Given the description of an element on the screen output the (x, y) to click on. 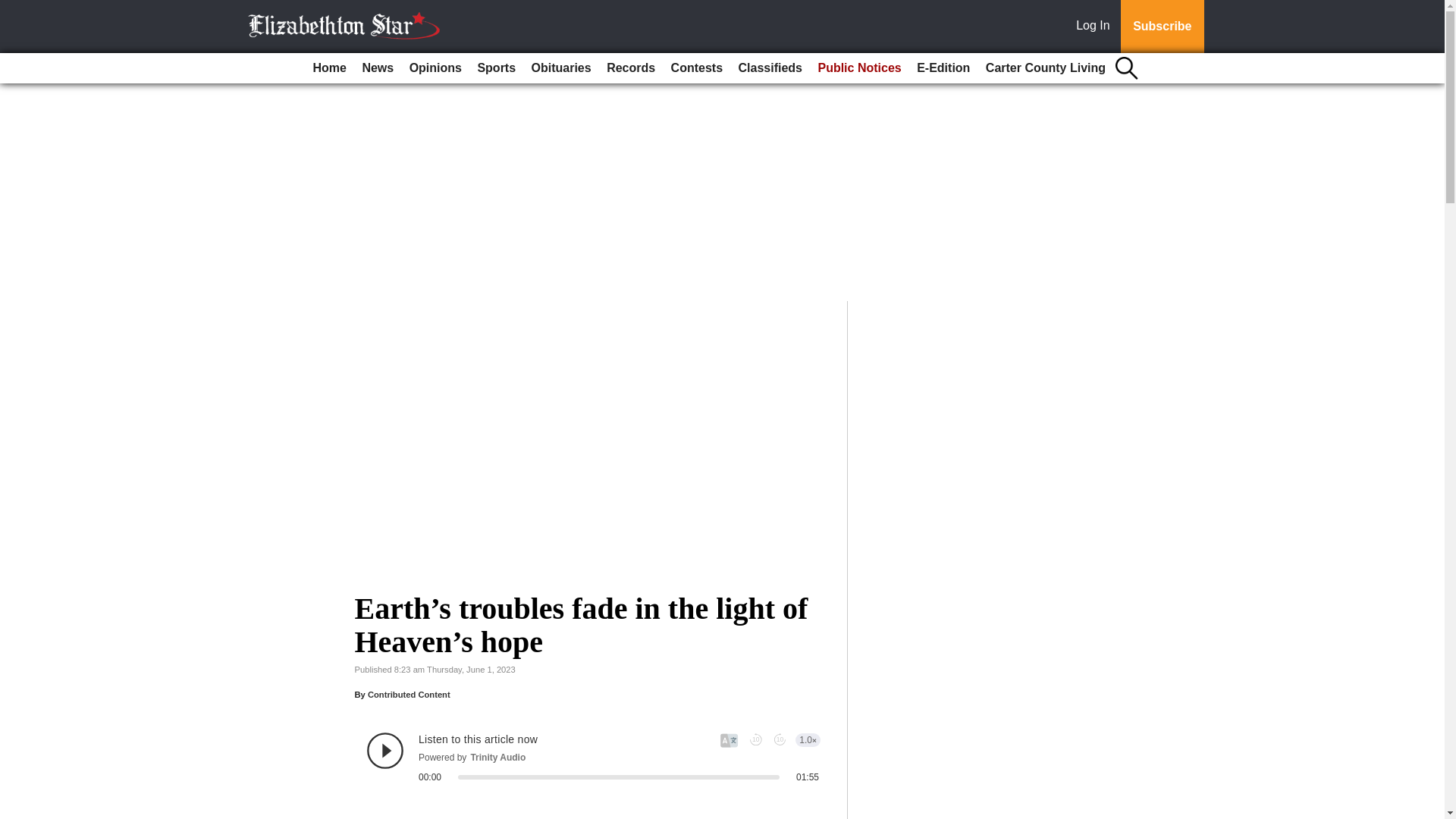
Trinity Audio Player (592, 757)
Carter County Living (1045, 68)
E-Edition (943, 68)
Records (630, 68)
Contests (697, 68)
Go (13, 9)
Log In (1095, 26)
Subscribe (1162, 26)
Public Notices (858, 68)
News (376, 68)
Contributed Content (408, 694)
Classifieds (770, 68)
Opinions (435, 68)
Sports (495, 68)
Home (328, 68)
